Given the description of an element on the screen output the (x, y) to click on. 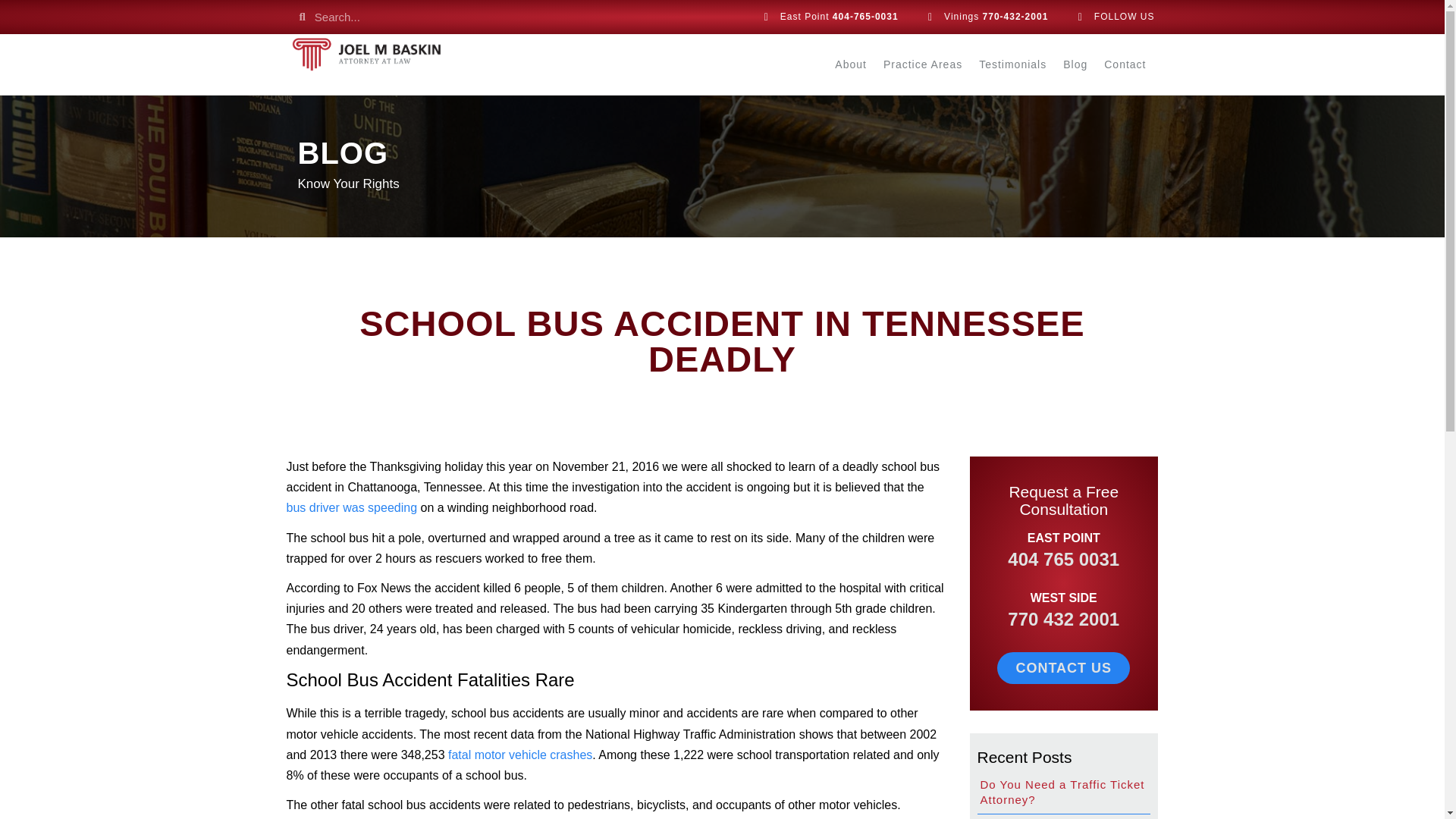
FOLLOW US (1111, 16)
East Point 404-765-0031 (826, 16)
Practice Areas (923, 64)
Vinings 770-432-2001 (984, 16)
Contact (1125, 64)
Testimonials (1012, 64)
